Given the description of an element on the screen output the (x, y) to click on. 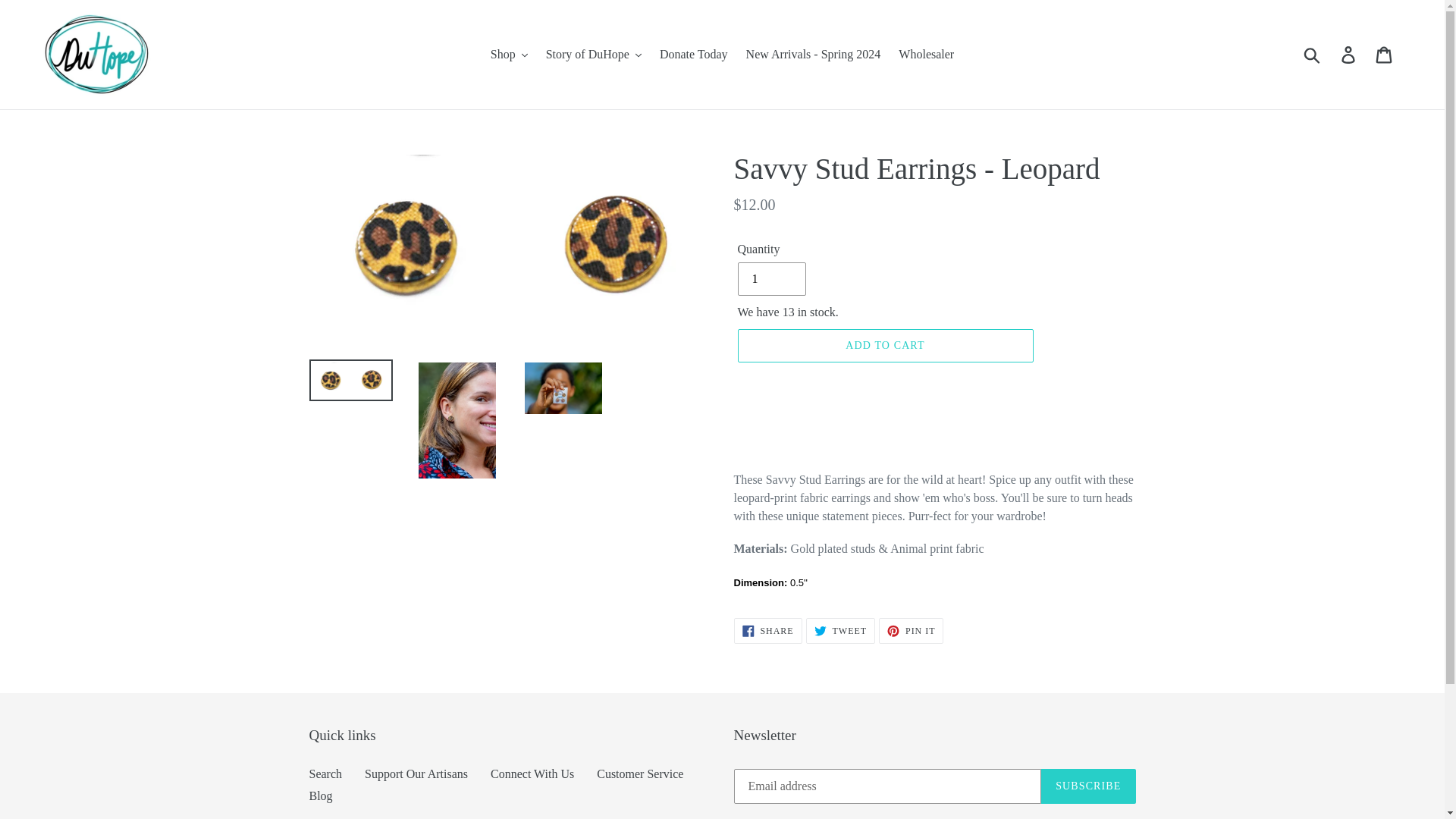
Log in (1349, 54)
Submit (1313, 54)
Donate Today (693, 54)
Cart (1385, 54)
1 (770, 278)
Wholesaler (925, 54)
New Arrivals - Spring 2024 (813, 54)
